Given the description of an element on the screen output the (x, y) to click on. 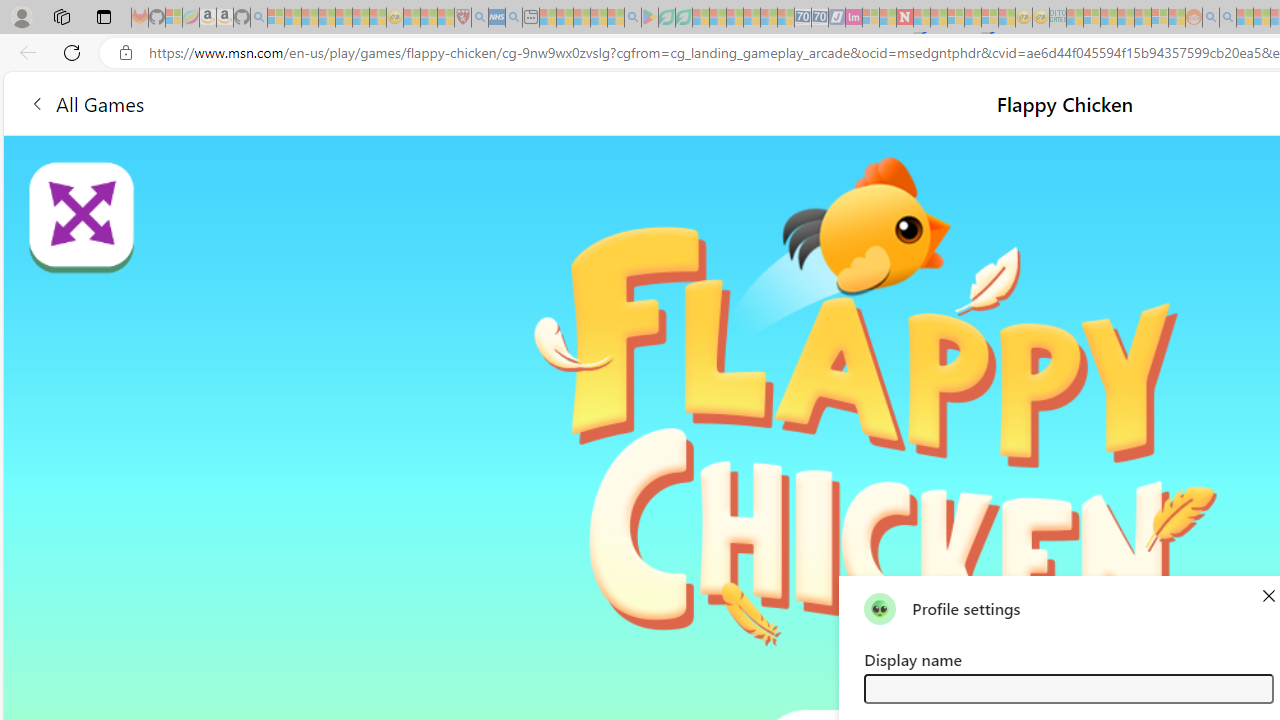
""'s avatar (880, 608)
utah sues federal government - Search - Sleeping (513, 17)
Class: text-input (1068, 688)
Kinda Frugal - MSN - Sleeping (1142, 17)
